Given the description of an element on the screen output the (x, y) to click on. 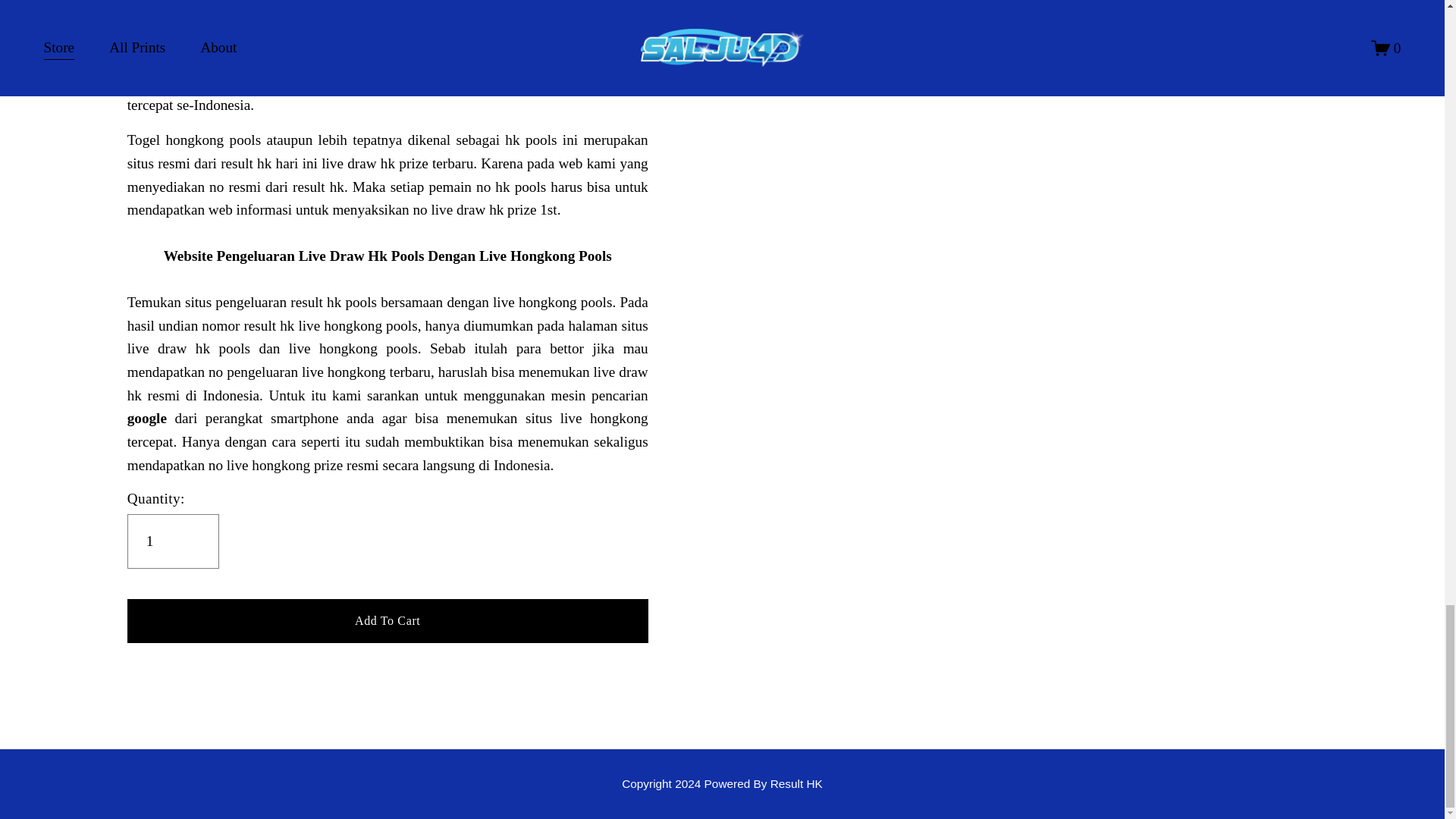
Result HK (796, 783)
Add To Cart (387, 619)
1 (173, 541)
Result HK (796, 783)
